Given the description of an element on the screen output the (x, y) to click on. 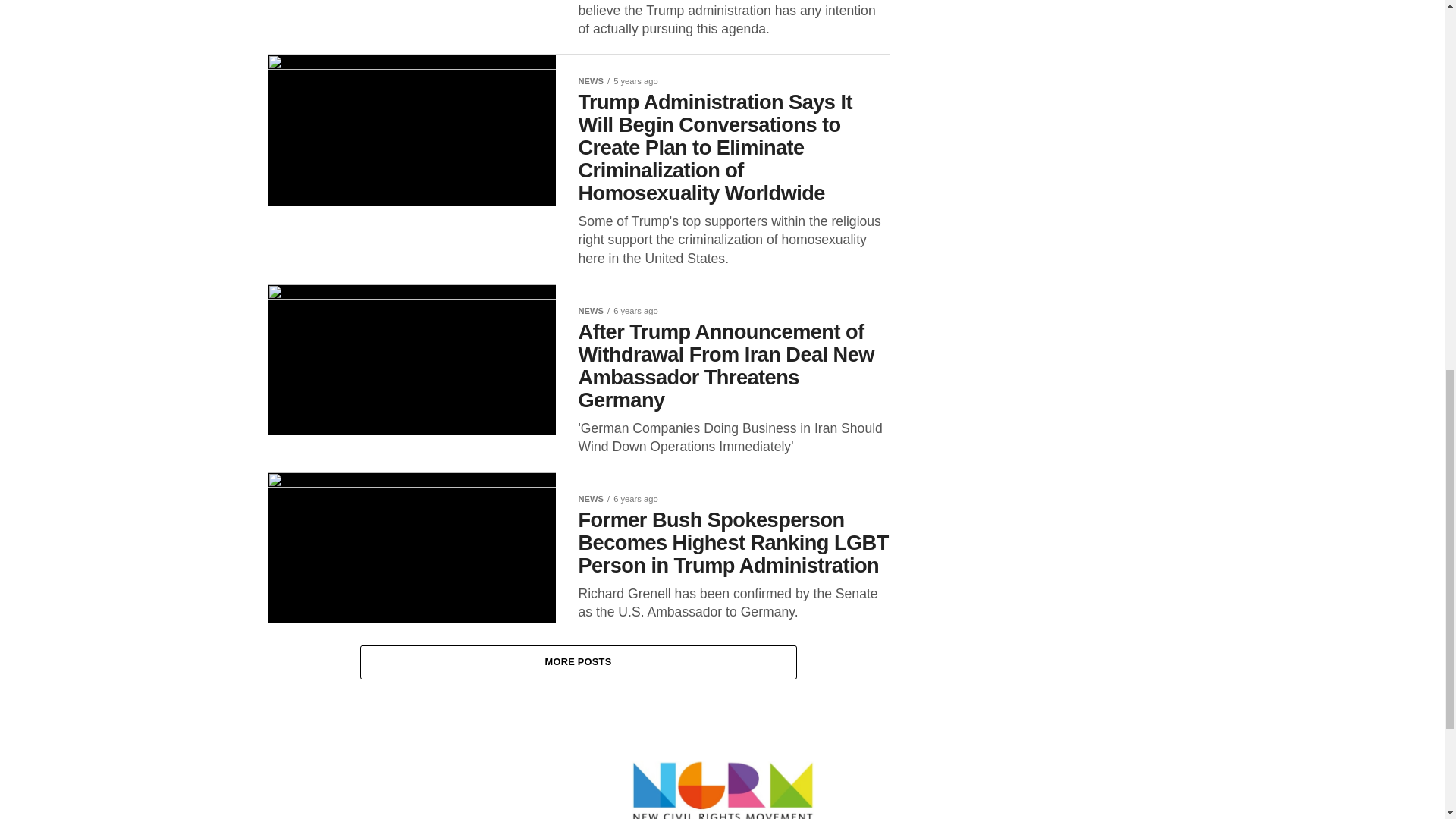
MORE POSTS (577, 662)
